Given the description of an element on the screen output the (x, y) to click on. 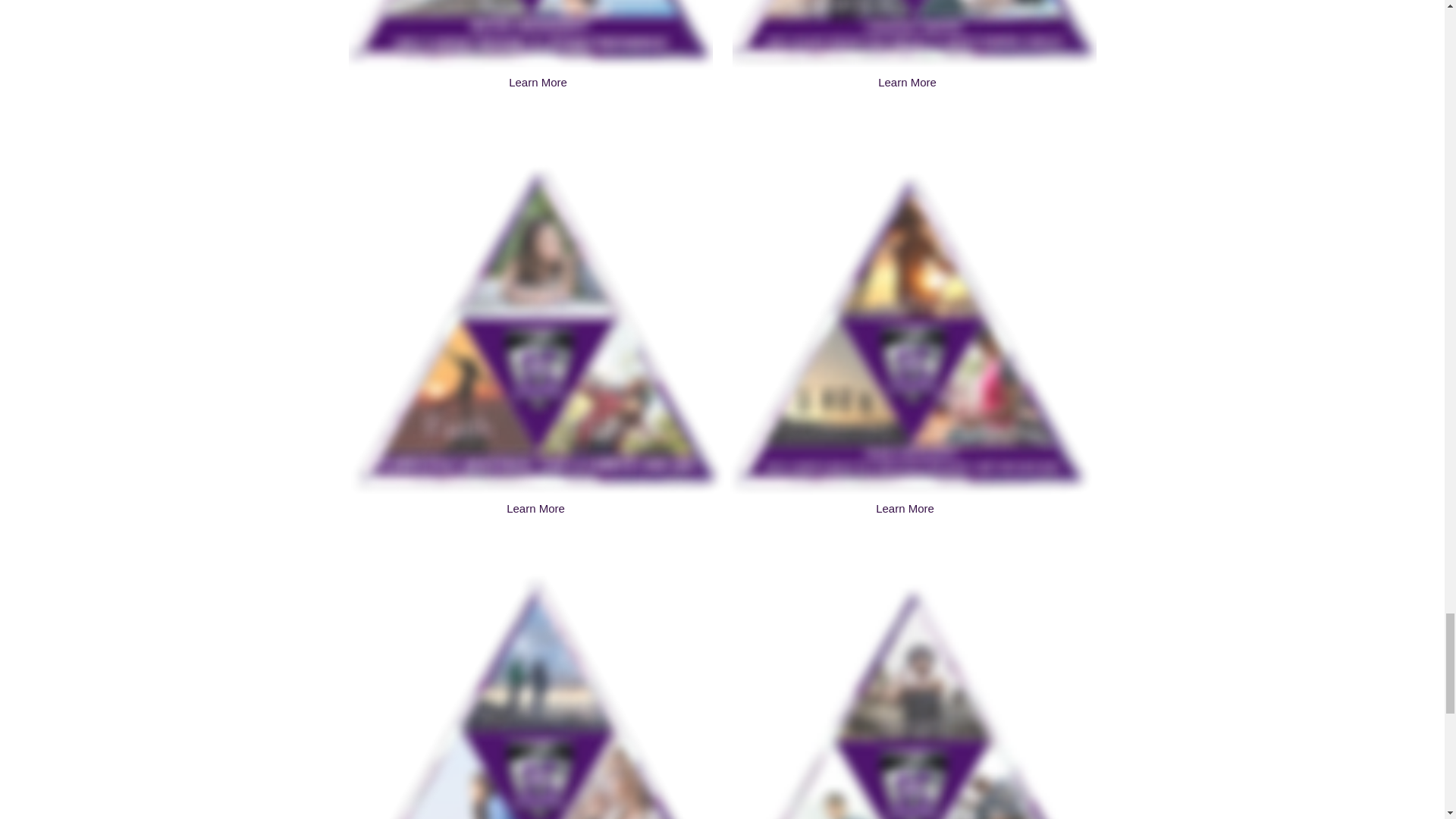
Learn More (906, 82)
Learn More (537, 82)
Learn More (535, 508)
Learn More (904, 508)
